Given the description of an element on the screen output the (x, y) to click on. 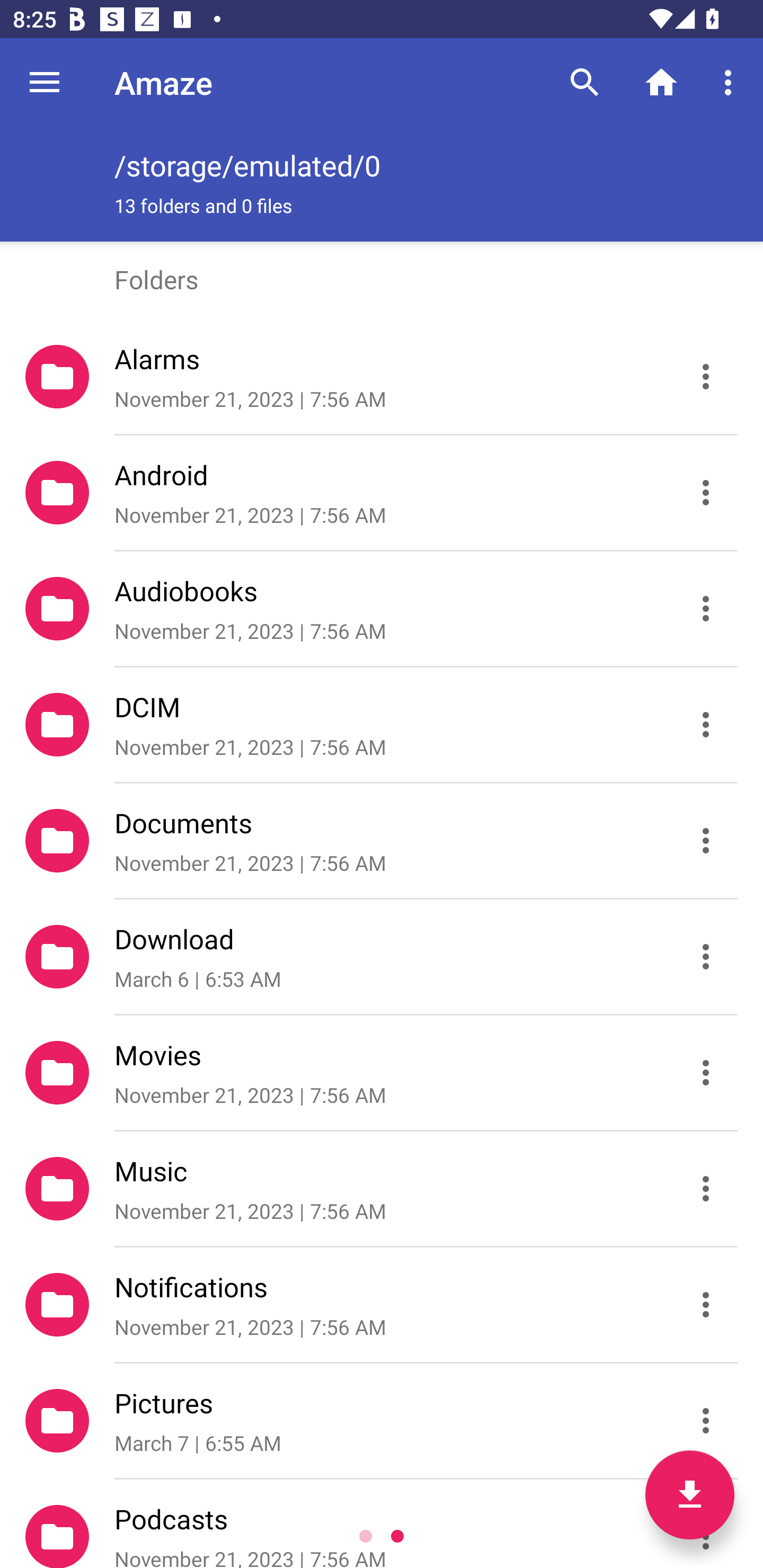
Navigate up (44, 82)
Search (585, 81)
Home (661, 81)
More options (731, 81)
Alarms November 21, 2023 | 7:56 AM (381, 376)
Android November 21, 2023 | 7:56 AM (381, 492)
Audiobooks November 21, 2023 | 7:56 AM (381, 608)
DCIM November 21, 2023 | 7:56 AM (381, 724)
Documents November 21, 2023 | 7:56 AM (381, 841)
Download March 6 | 6:53 AM (381, 957)
Movies November 21, 2023 | 7:56 AM (381, 1073)
Music November 21, 2023 | 7:56 AM (381, 1189)
Notifications November 21, 2023 | 7:56 AM (381, 1305)
Pictures March 7 | 6:55 AM (381, 1421)
Podcasts November 21, 2023 | 7:56 AM (381, 1524)
